Given the description of an element on the screen output the (x, y) to click on. 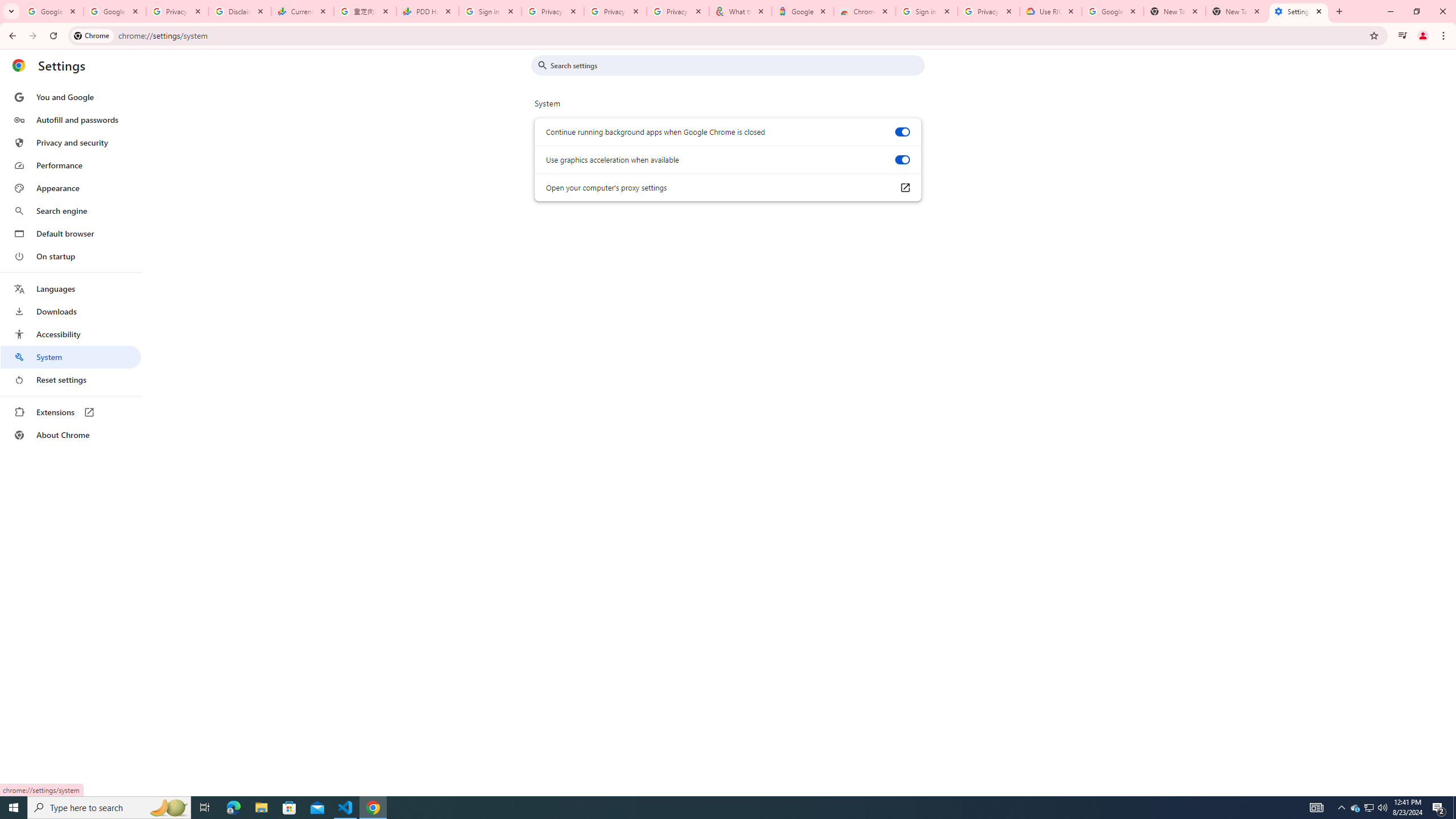
Accessibility (70, 333)
Languages (70, 288)
Downloads (70, 311)
Sign in - Google Accounts (926, 11)
Google (802, 11)
About Chrome (70, 434)
